Given the description of an element on the screen output the (x, y) to click on. 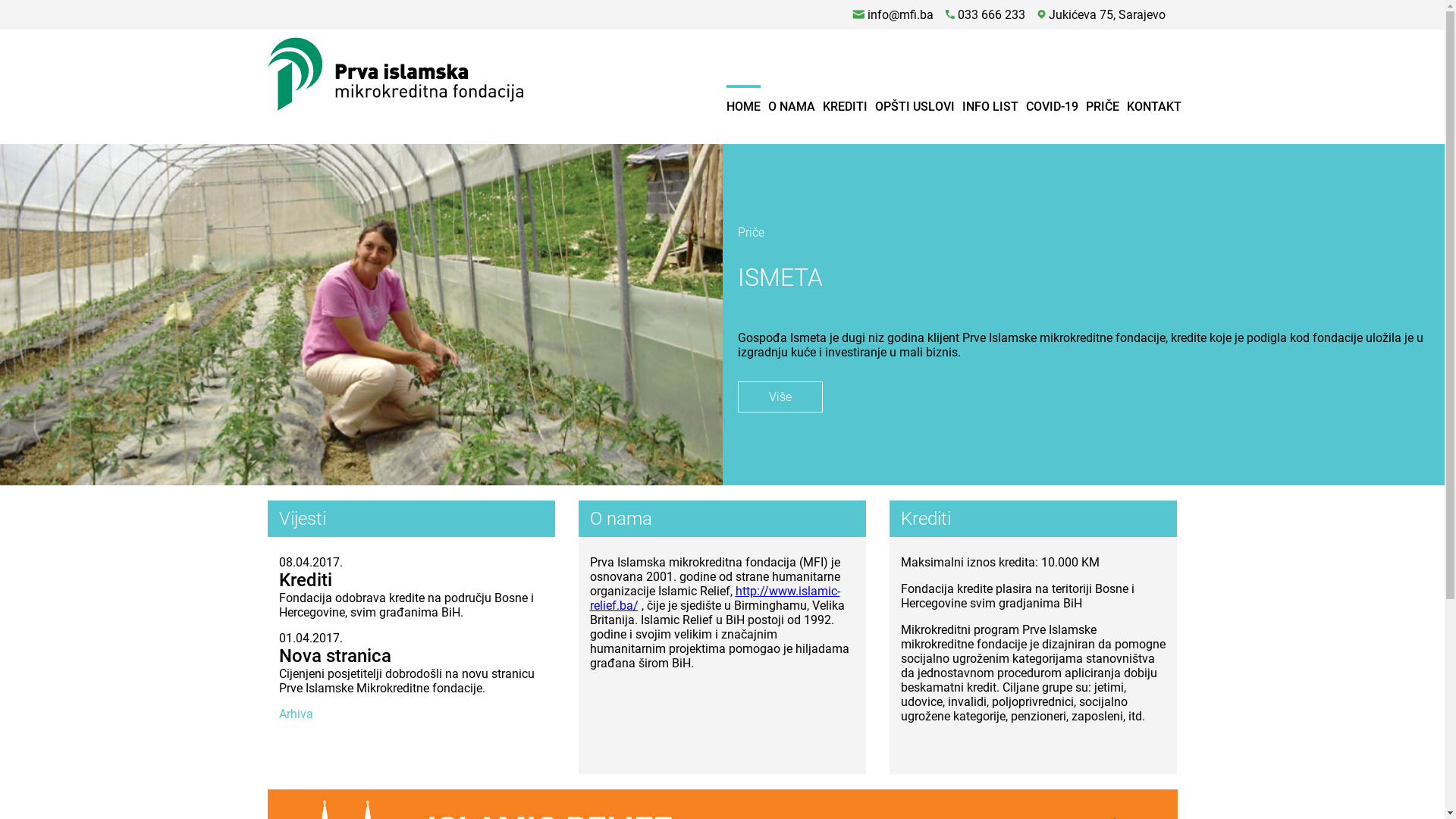
Nova stranica Element type: text (335, 655)
INFO LIST Element type: text (989, 106)
KREDITI Element type: text (844, 106)
033 666 233 Element type: text (985, 14)
Arhiva Element type: text (296, 713)
KONTAKT Element type: text (1153, 106)
info@mfi.ba Element type: text (892, 14)
Krediti Element type: text (305, 579)
O NAMA Element type: text (790, 106)
http://www.islamic-relief.ba/ Element type: text (714, 597)
COVID-19 Element type: text (1051, 106)
HOME Element type: text (743, 106)
